Given the description of an element on the screen output the (x, y) to click on. 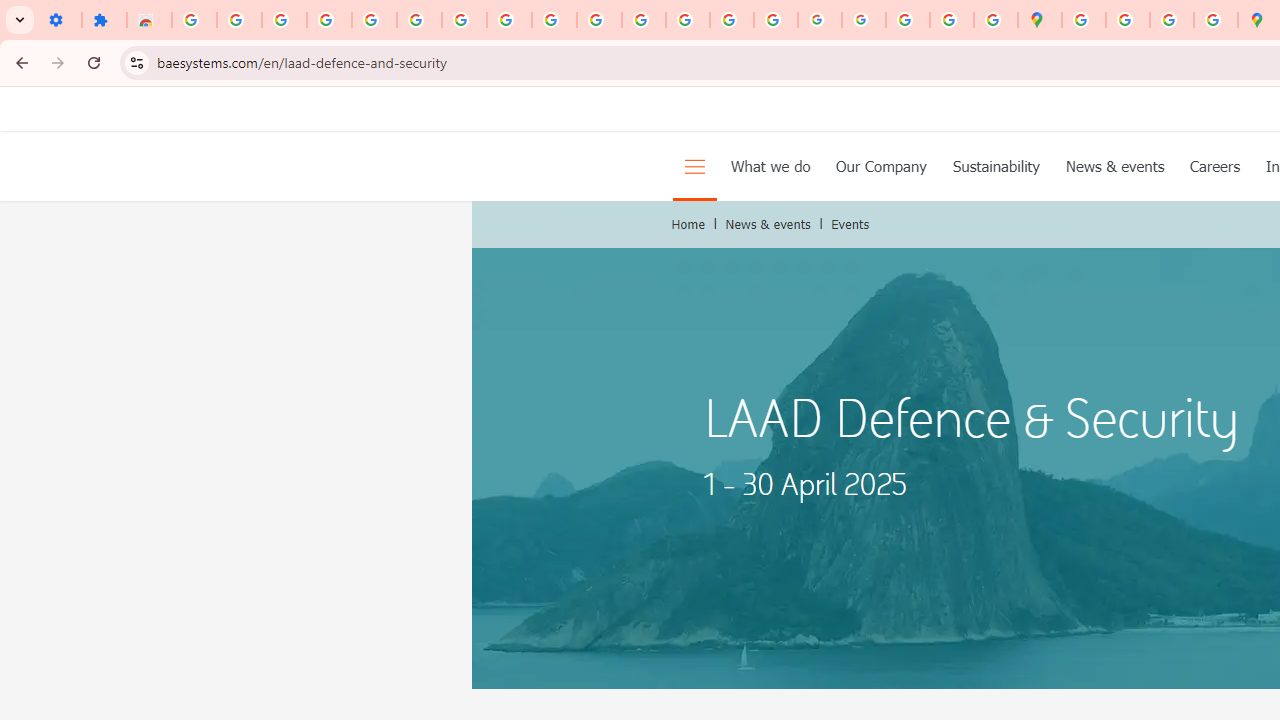
Sustainability (995, 165)
YouTube (554, 20)
Our Company (881, 165)
Careers (1215, 165)
